Given the description of an element on the screen output the (x, y) to click on. 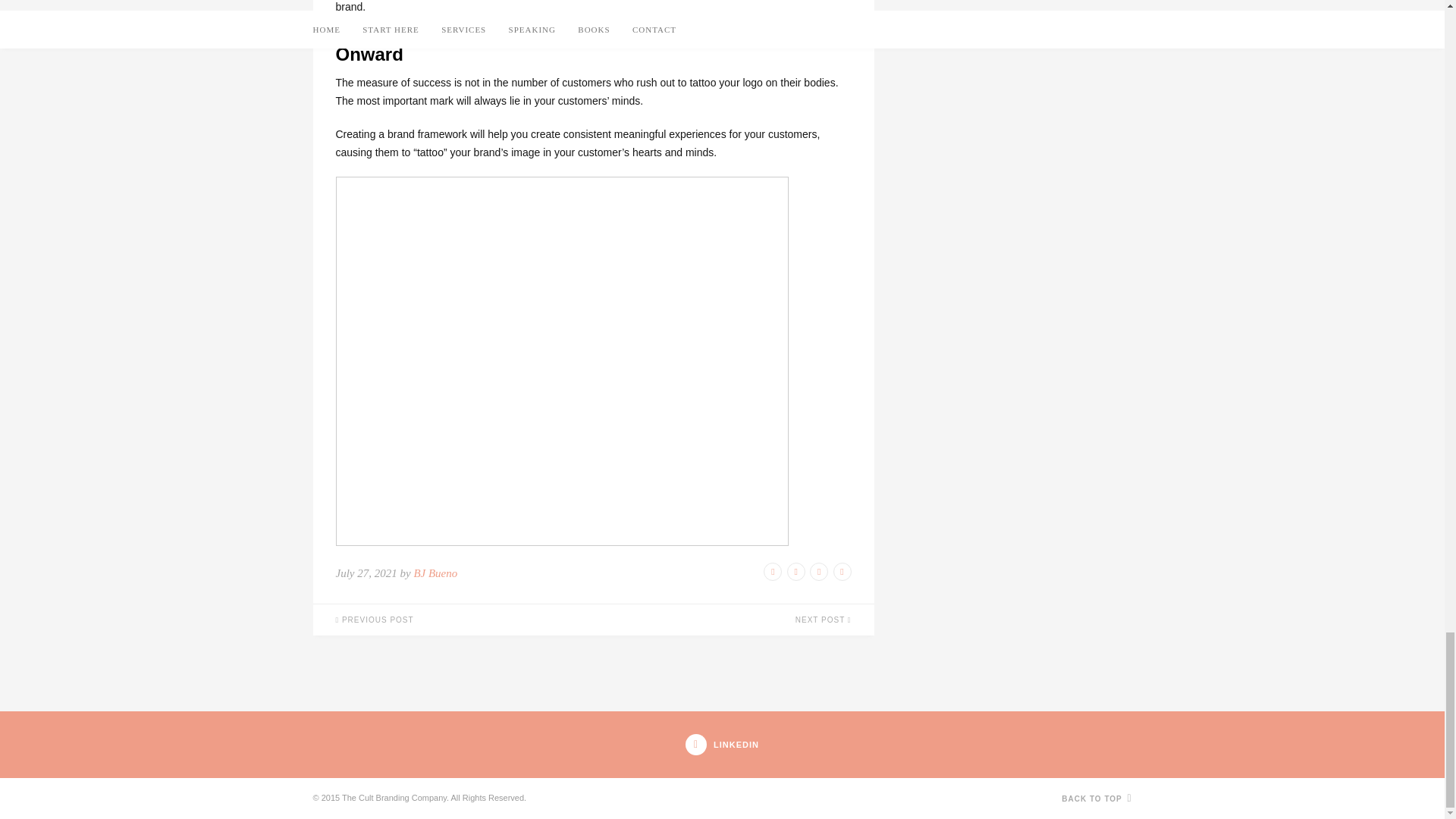
BJ Bueno (435, 573)
Posts by BJ Bueno (435, 573)
PREVIOUS POST (452, 619)
NEXT POST (732, 619)
